Given the description of an element on the screen output the (x, y) to click on. 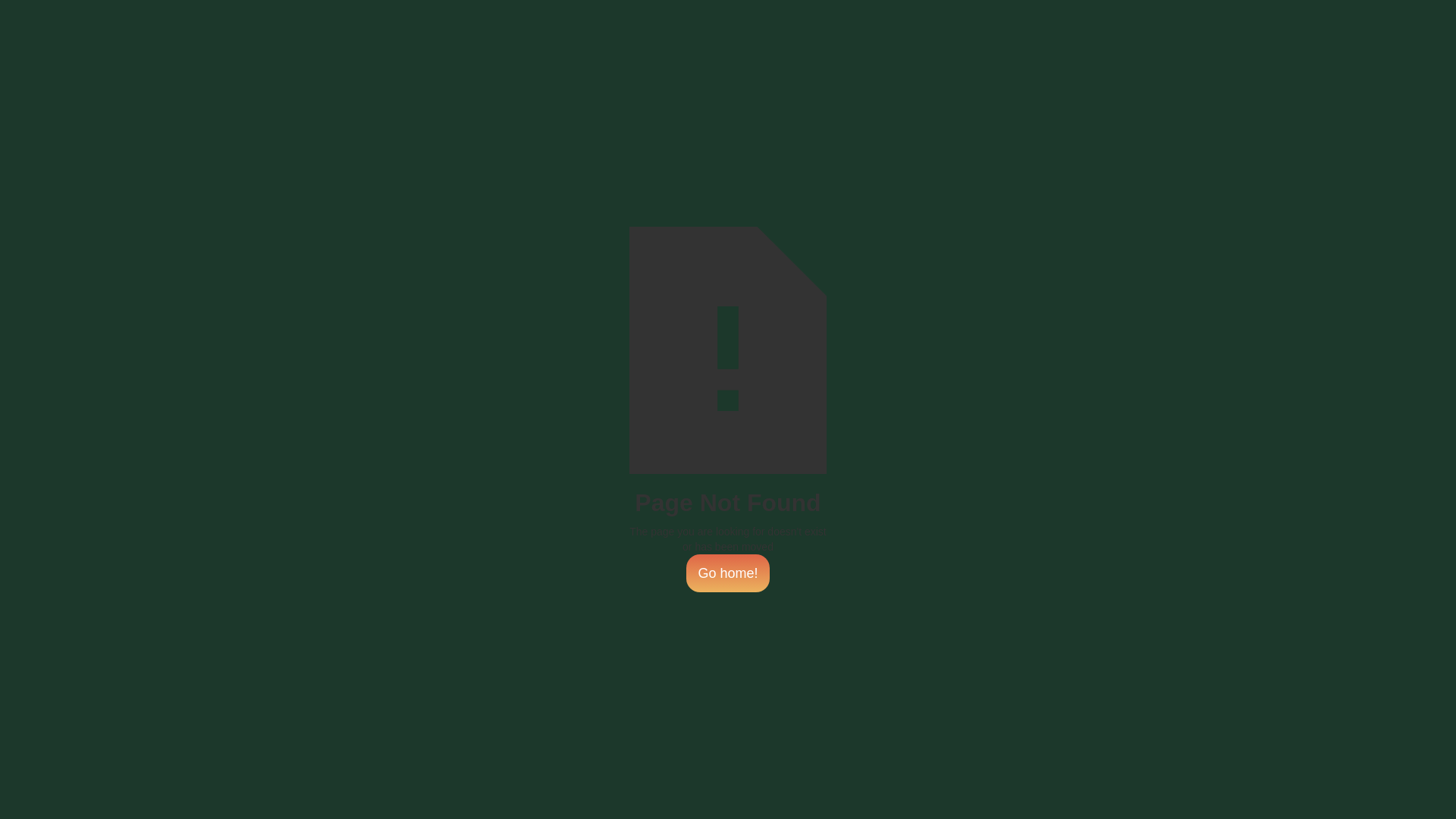
Go home! Element type: text (727, 573)
